Given the description of an element on the screen output the (x, y) to click on. 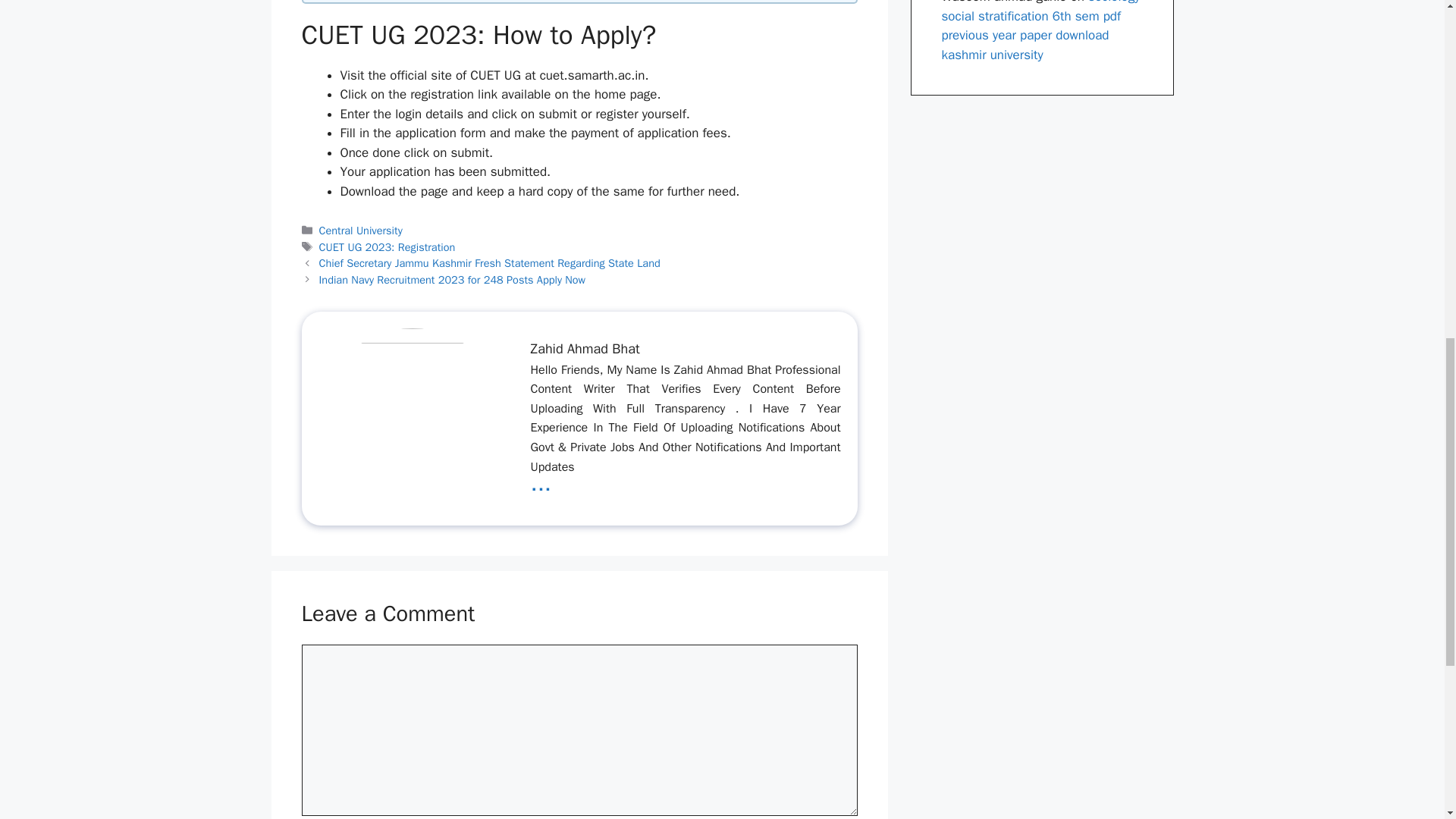
Scroll back to top (1406, 720)
Indian Navy Recruitment 2023 for 248 Posts Apply Now (452, 279)
CUET UG 2023: Registration (386, 246)
Central University (360, 230)
